Given the description of an element on the screen output the (x, y) to click on. 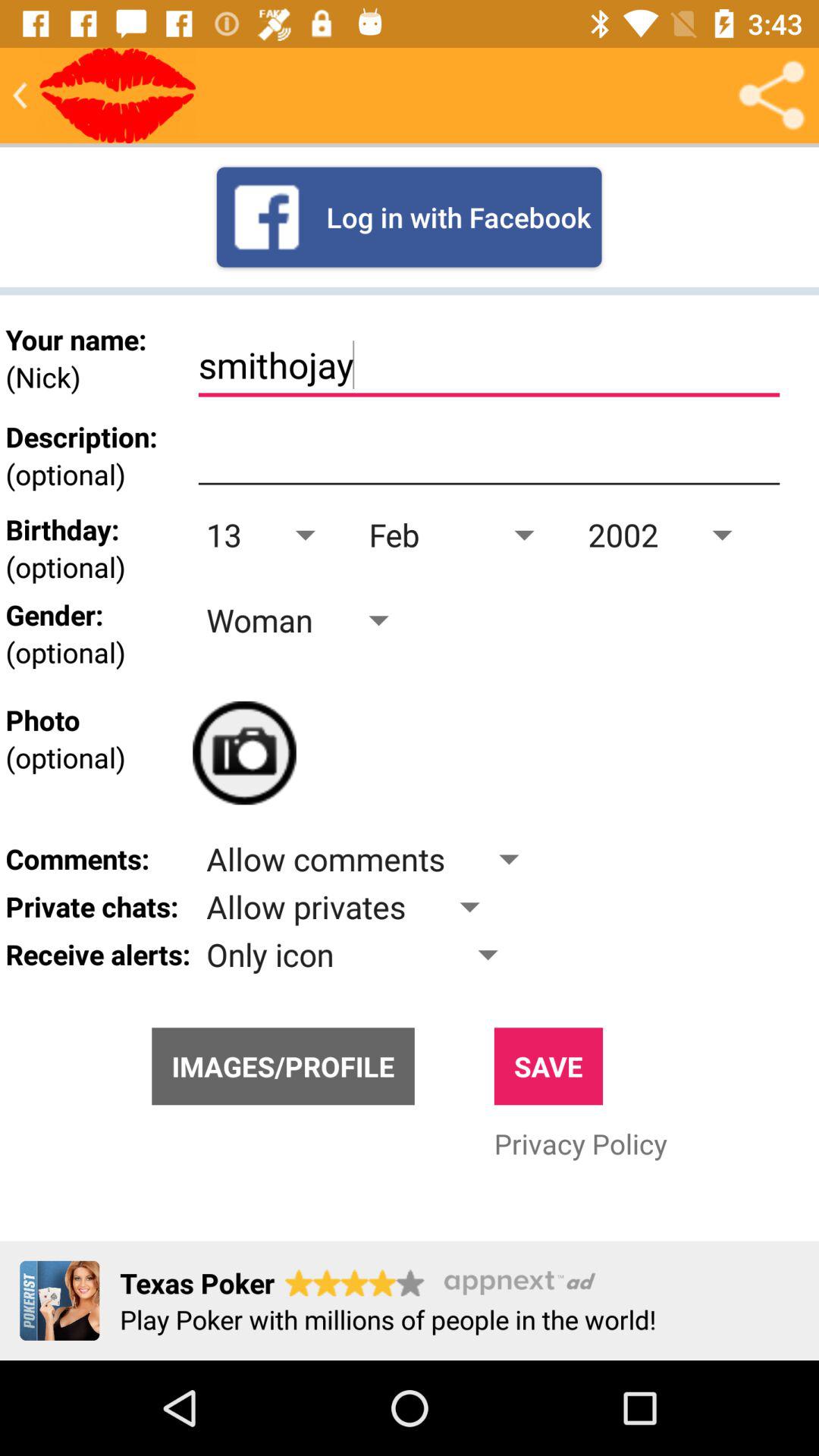
click camera option (244, 752)
